Given the description of an element on the screen output the (x, y) to click on. 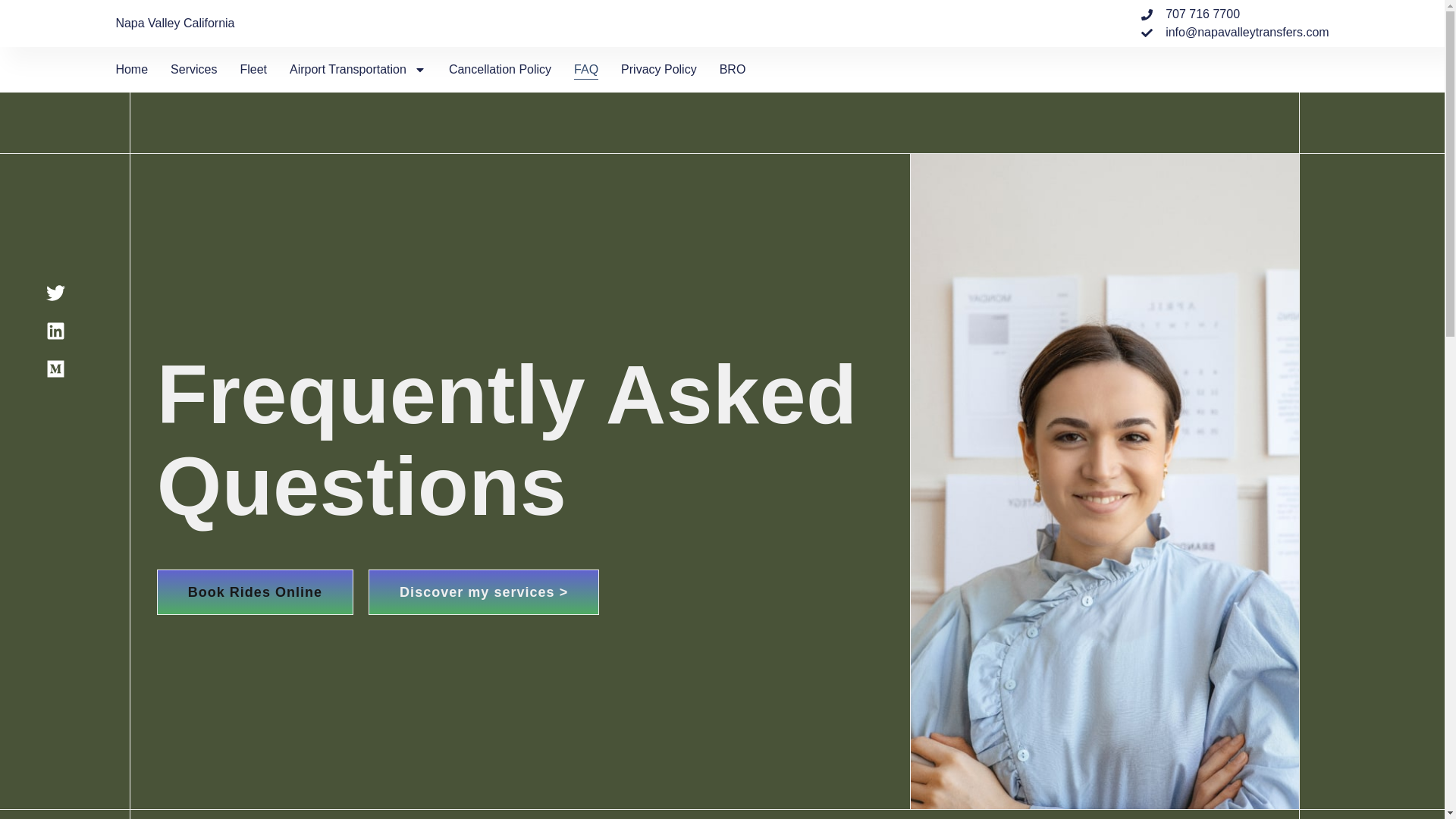
Fleet (253, 69)
FAQ (585, 69)
Airport Transportation (357, 69)
Services (193, 69)
707 716 7700 (1234, 13)
BRO (732, 69)
Privacy Policy (659, 69)
Home (131, 69)
Cancellation Policy (499, 69)
